Given the description of an element on the screen output the (x, y) to click on. 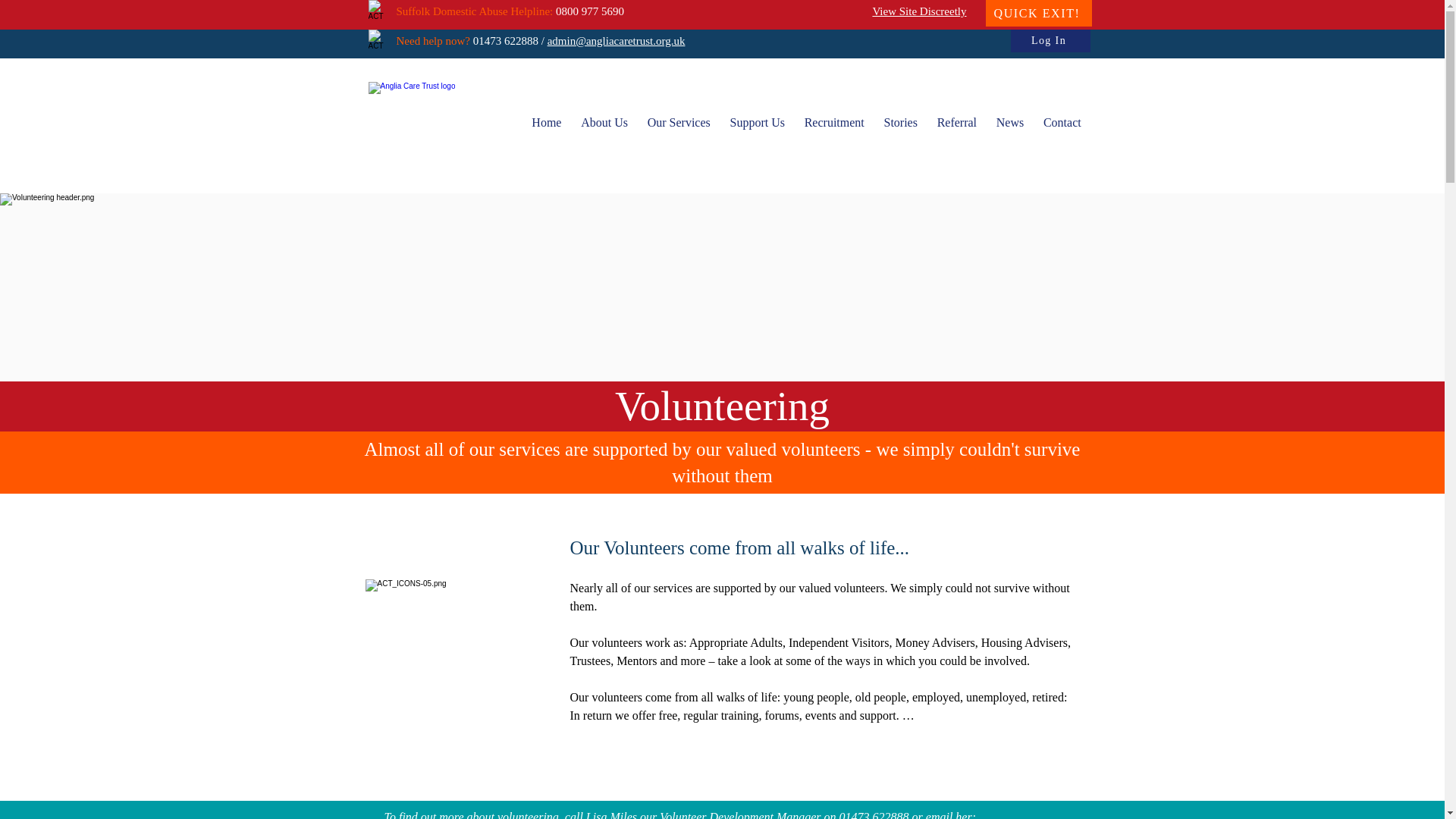
Log In (1049, 40)
Our Services (678, 122)
Home (545, 122)
View Site Discreetly (919, 10)
About Us (603, 122)
QUICK EXIT! (1038, 13)
